Given the description of an element on the screen output the (x, y) to click on. 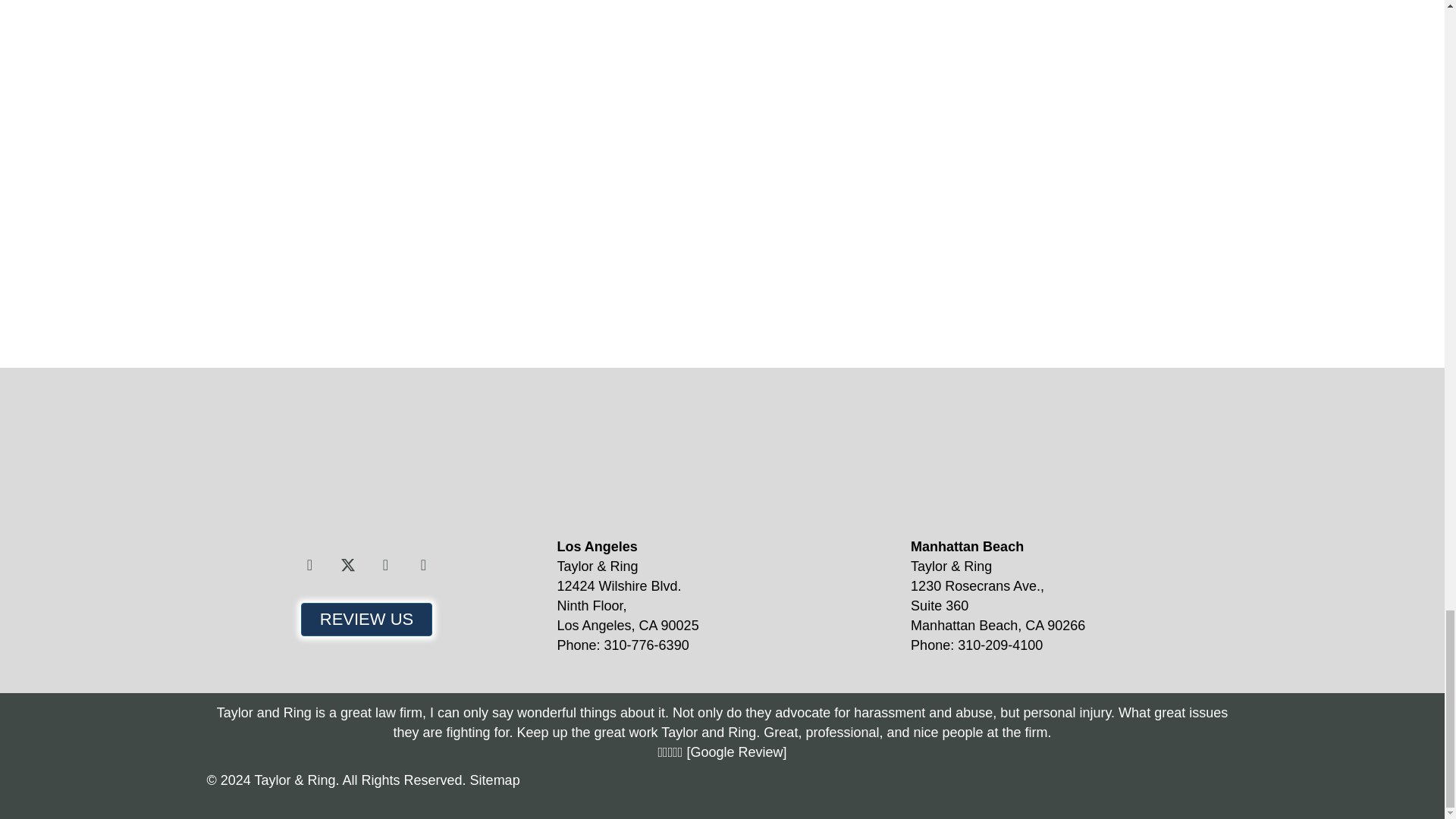
Los Angeles (687, 459)
Instagram (384, 564)
LinkedIn (422, 564)
Facebook (309, 564)
PoweredByDLM (1156, 786)
Manhattan Beach (1042, 459)
